Given the description of an element on the screen output the (x, y) to click on. 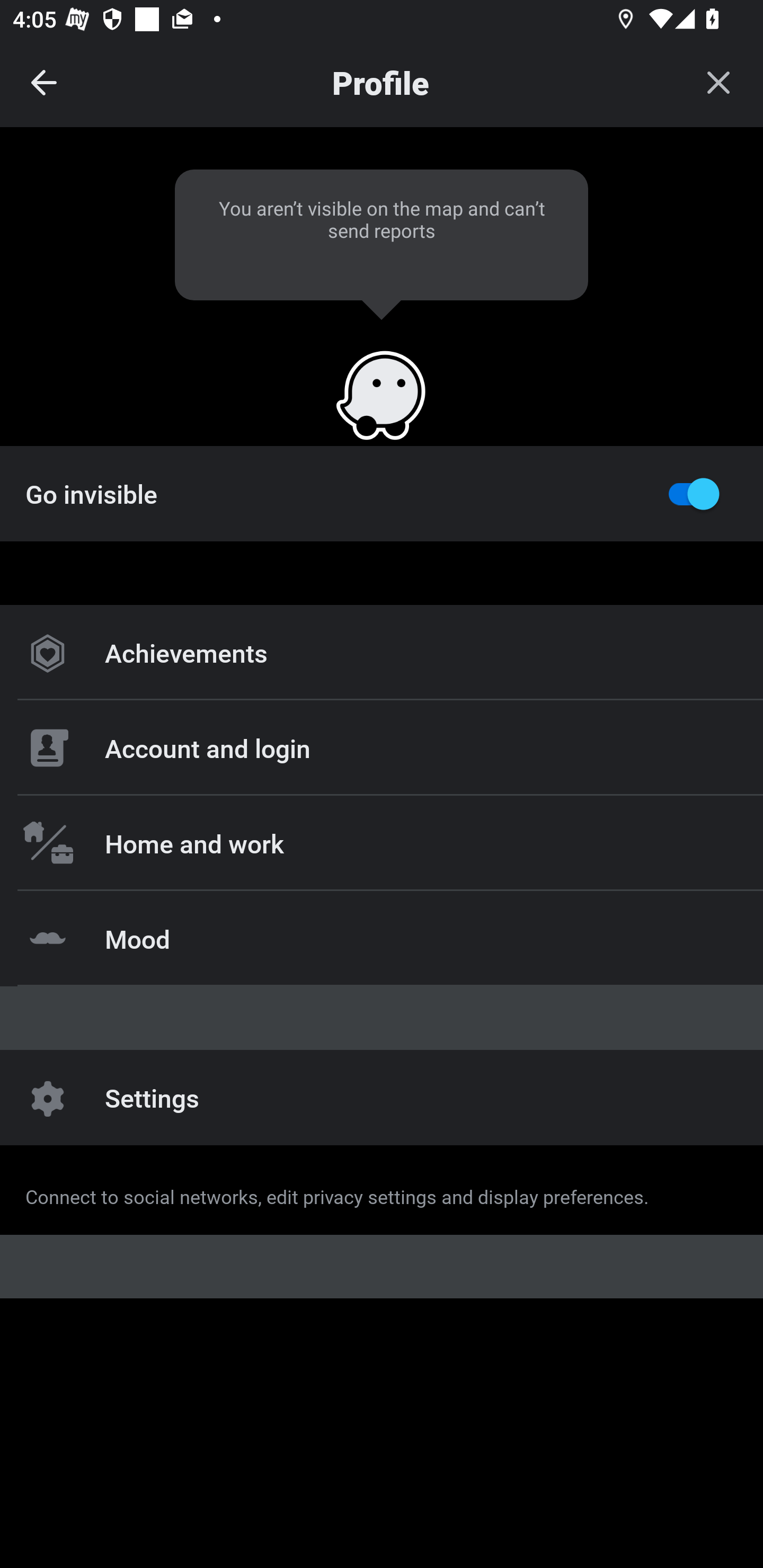
Go invisible (381, 492)
Achievements (381, 652)
Account and login (381, 747)
Home and work (381, 842)
Mood (381, 938)
Settings (381, 1097)
Home 255 W 94th St, Manhattan (381, 1197)
